Given the description of an element on the screen output the (x, y) to click on. 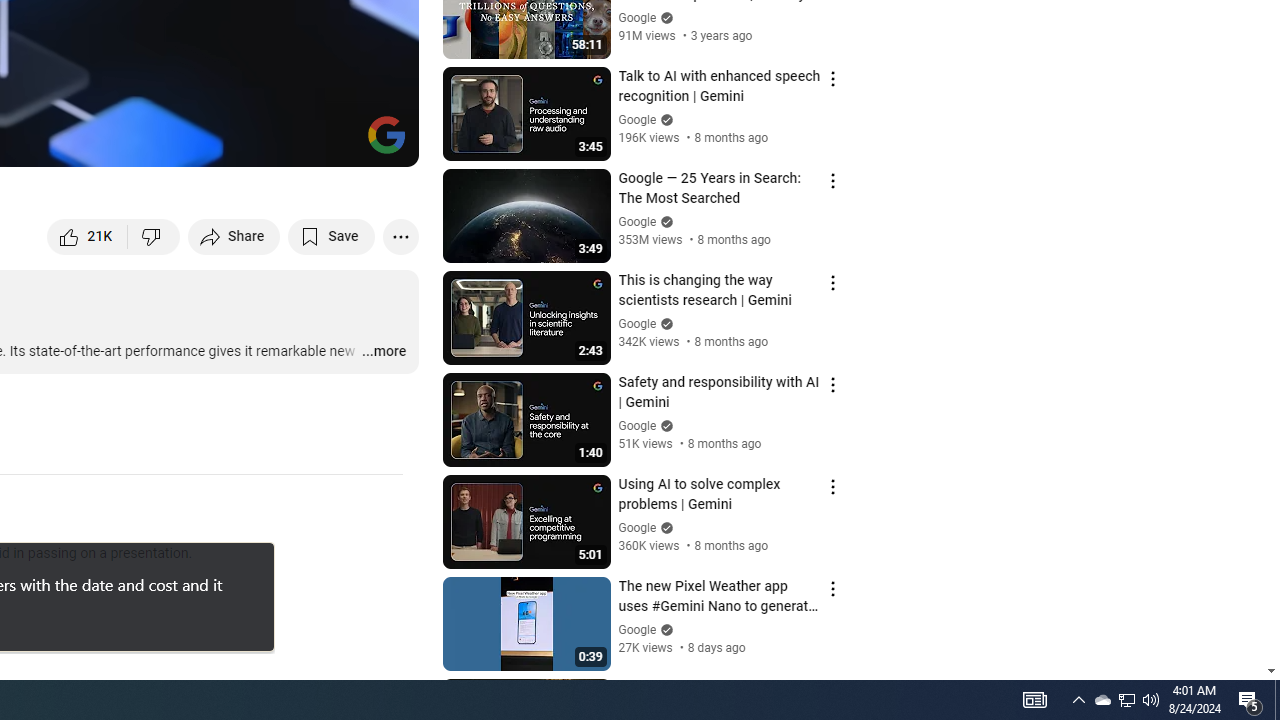
like this video along with 21,118 other people (88, 236)
Share (234, 236)
Full screen (f) (382, 142)
Channel watermark (386, 134)
Subtitles/closed captions unavailable (190, 142)
Action menu (832, 690)
Save to playlist (331, 236)
Dislike this video (154, 236)
Miniplayer (i) (286, 142)
Autoplay is on (141, 142)
Theater mode (t) (333, 142)
